Given the description of an element on the screen output the (x, y) to click on. 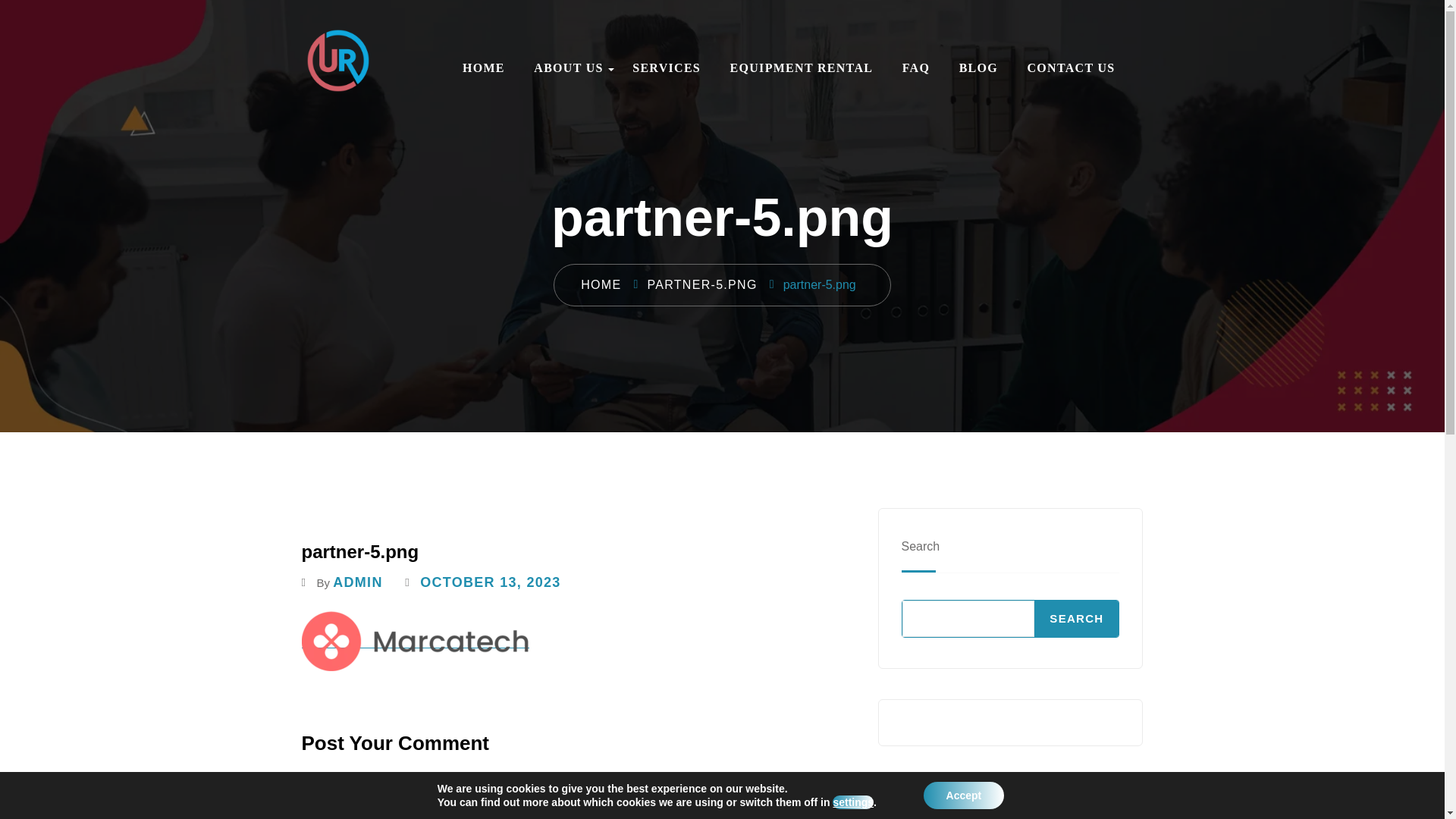
SERVICES (665, 67)
ABOUT US (568, 67)
HOME (600, 284)
ADMIN (357, 581)
OCTOBER 13, 2023 (490, 581)
BLOG (978, 67)
Accept (963, 795)
Home  (600, 284)
FAQ (916, 67)
SEARCH (1075, 618)
CONTACT US (1071, 67)
EQUIPMENT RENTAL (801, 67)
PARTNER-5.PNG (701, 284)
HOME (484, 67)
settings (852, 802)
